Given the description of an element on the screen output the (x, y) to click on. 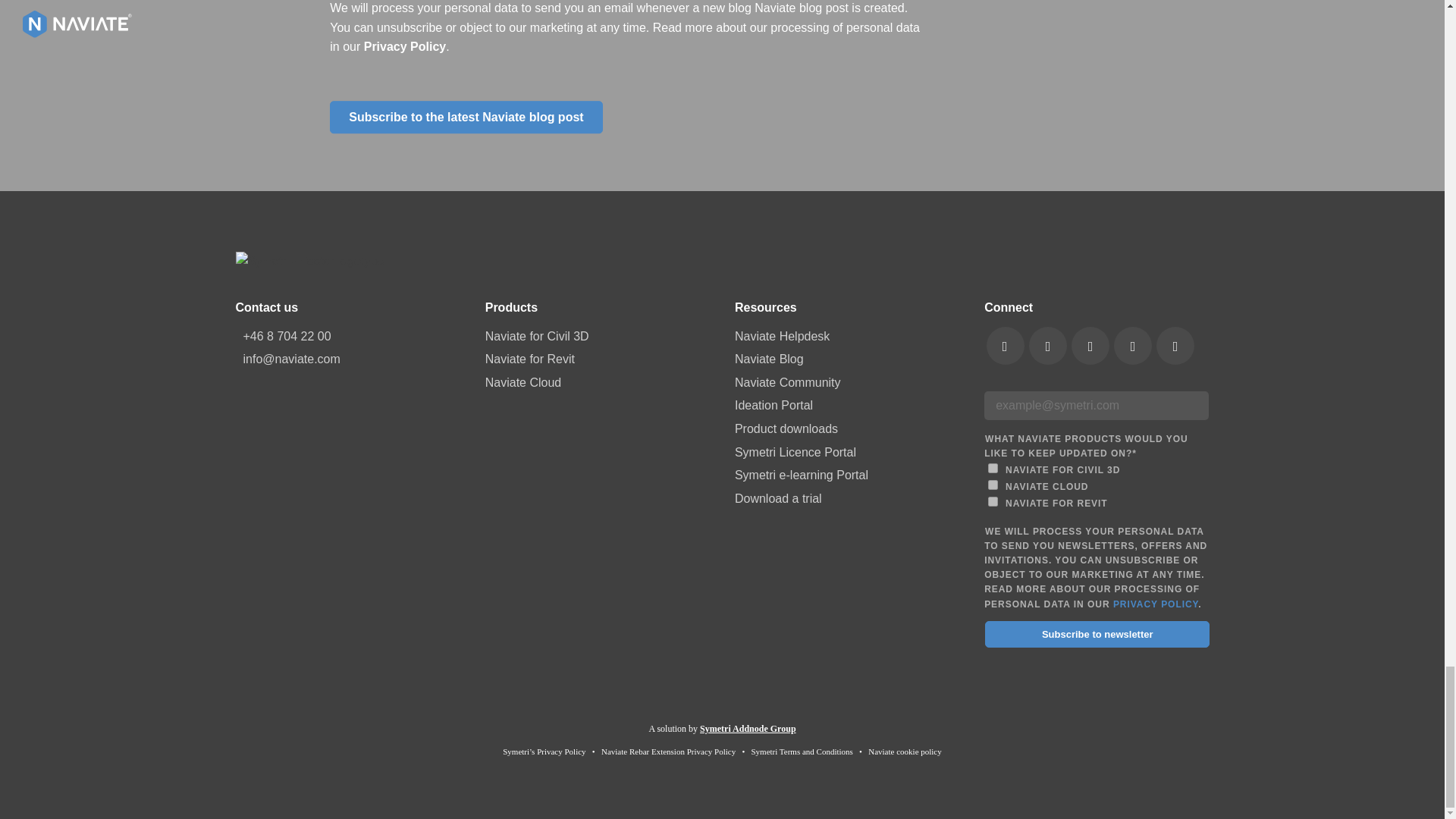
Symetri e-learning Portal (847, 475)
Naviate for Revit (992, 501)
Naviate Nexus (992, 484)
Naviate Community (847, 383)
Naviate for Revit (597, 359)
Download a trial (847, 498)
Ideation Portal (847, 405)
Naviate for Civil 3D (992, 468)
Privacy Policy (405, 47)
Naviate Helpdesk (847, 336)
